Given the description of an element on the screen output the (x, y) to click on. 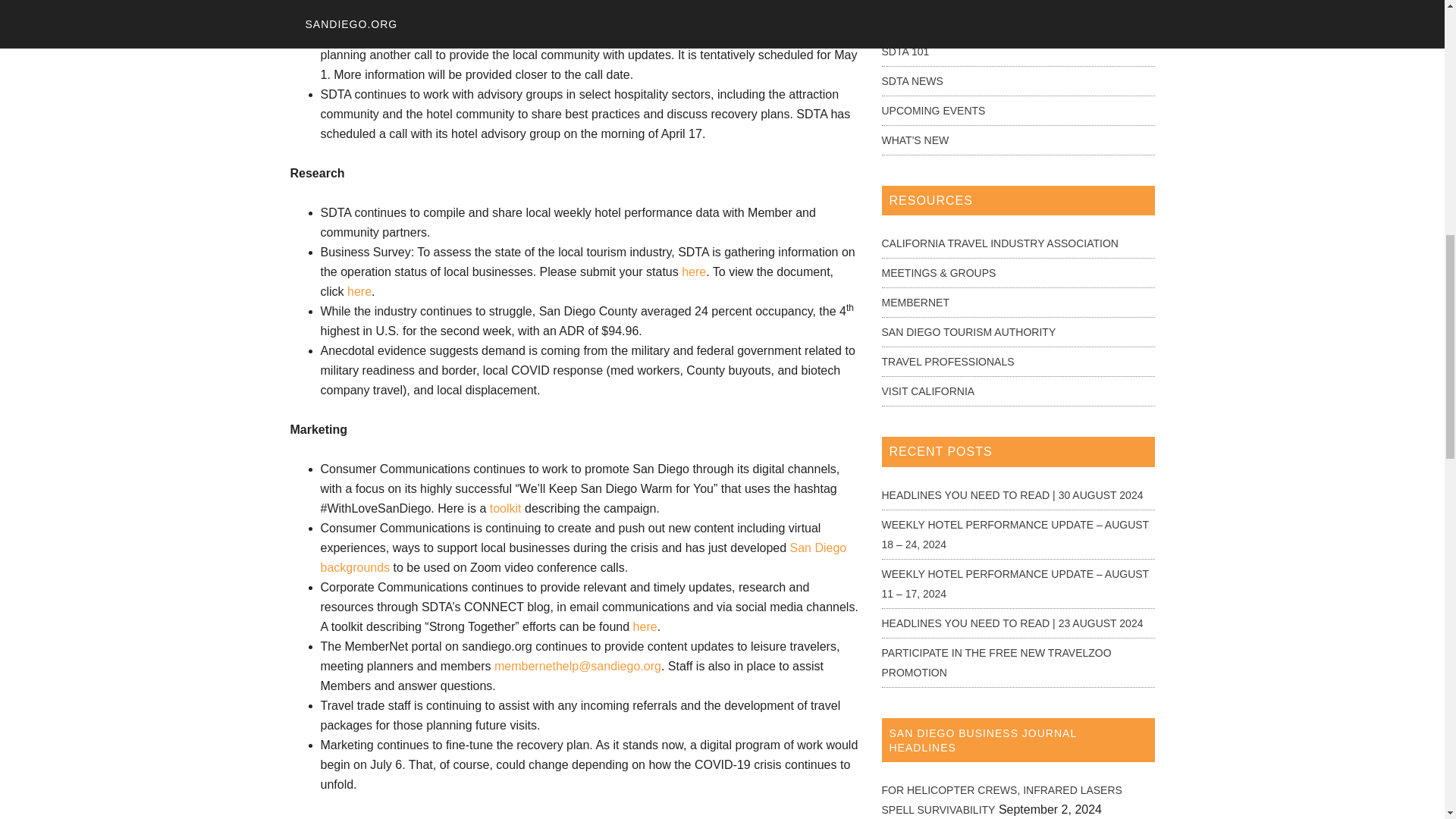
SDTA NEWS (911, 80)
Official tourism website of the San Diego Tourism Authority (967, 331)
here (693, 271)
Login to MemberNet (914, 302)
SDTA 101 (904, 51)
San Diego backgrounds (582, 557)
here (359, 291)
here (645, 626)
toolkit (505, 508)
